Given the description of an element on the screen output the (x, y) to click on. 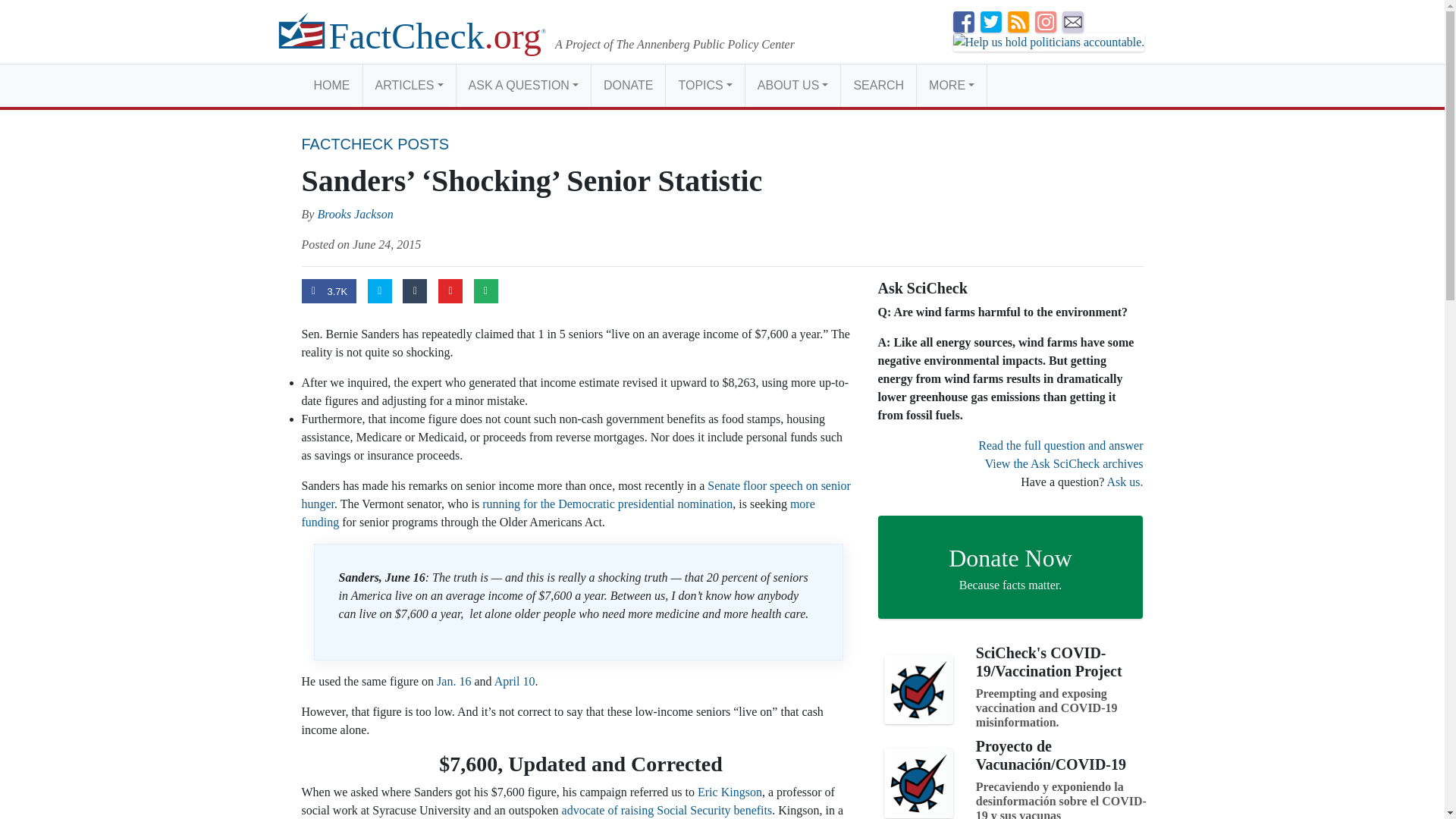
Articles (408, 85)
TOPICS (704, 85)
Ask a Question (524, 85)
Home (331, 85)
ARTICLES (408, 85)
DONATE (627, 85)
HOME (331, 85)
ABOUT US (792, 85)
Topics (704, 85)
Donate (627, 85)
ASK A QUESTION (524, 85)
